Given the description of an element on the screen output the (x, y) to click on. 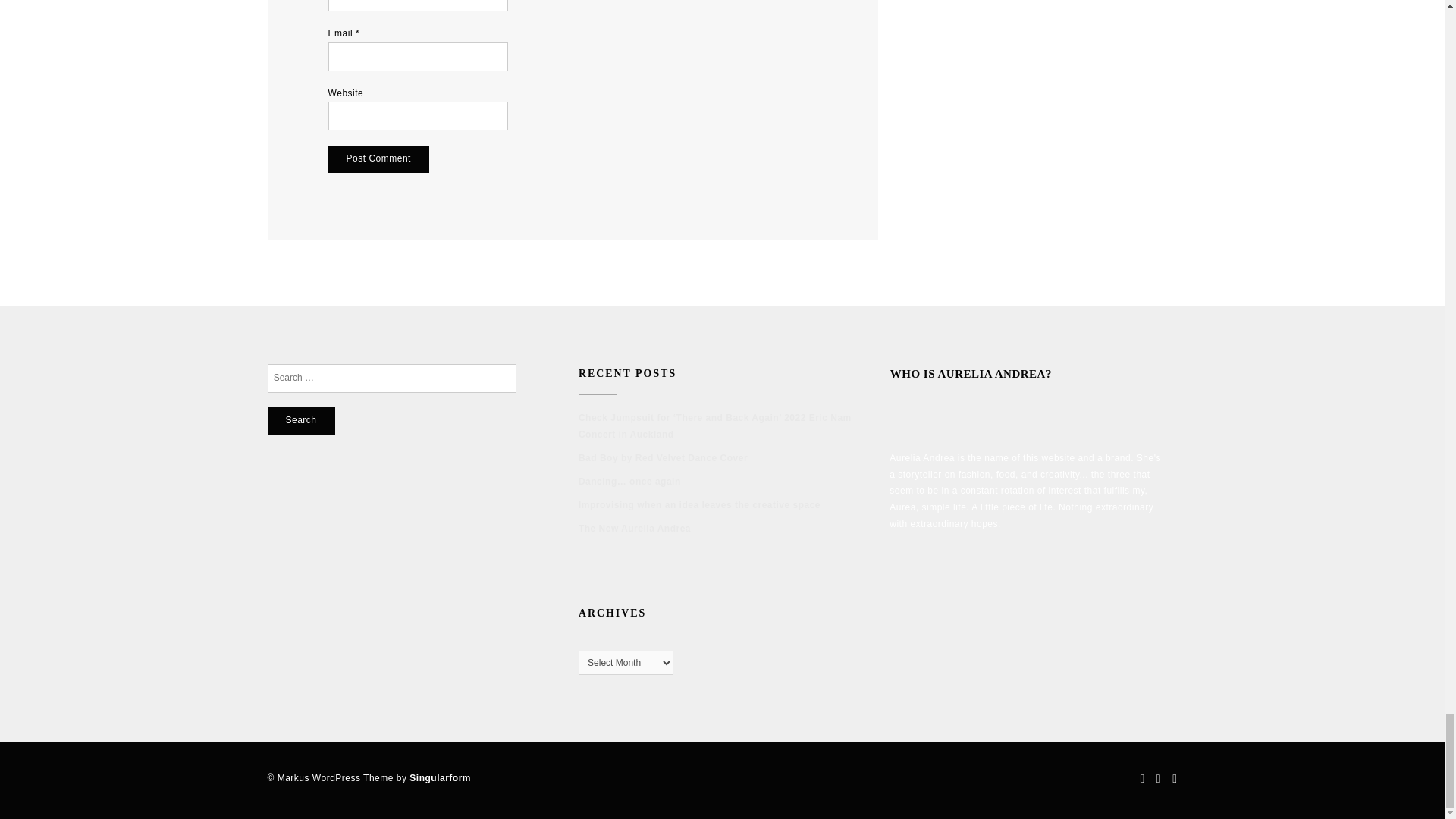
Post Comment (379, 158)
Search (300, 420)
Post Comment (379, 158)
Search (300, 420)
